Given the description of an element on the screen output the (x, y) to click on. 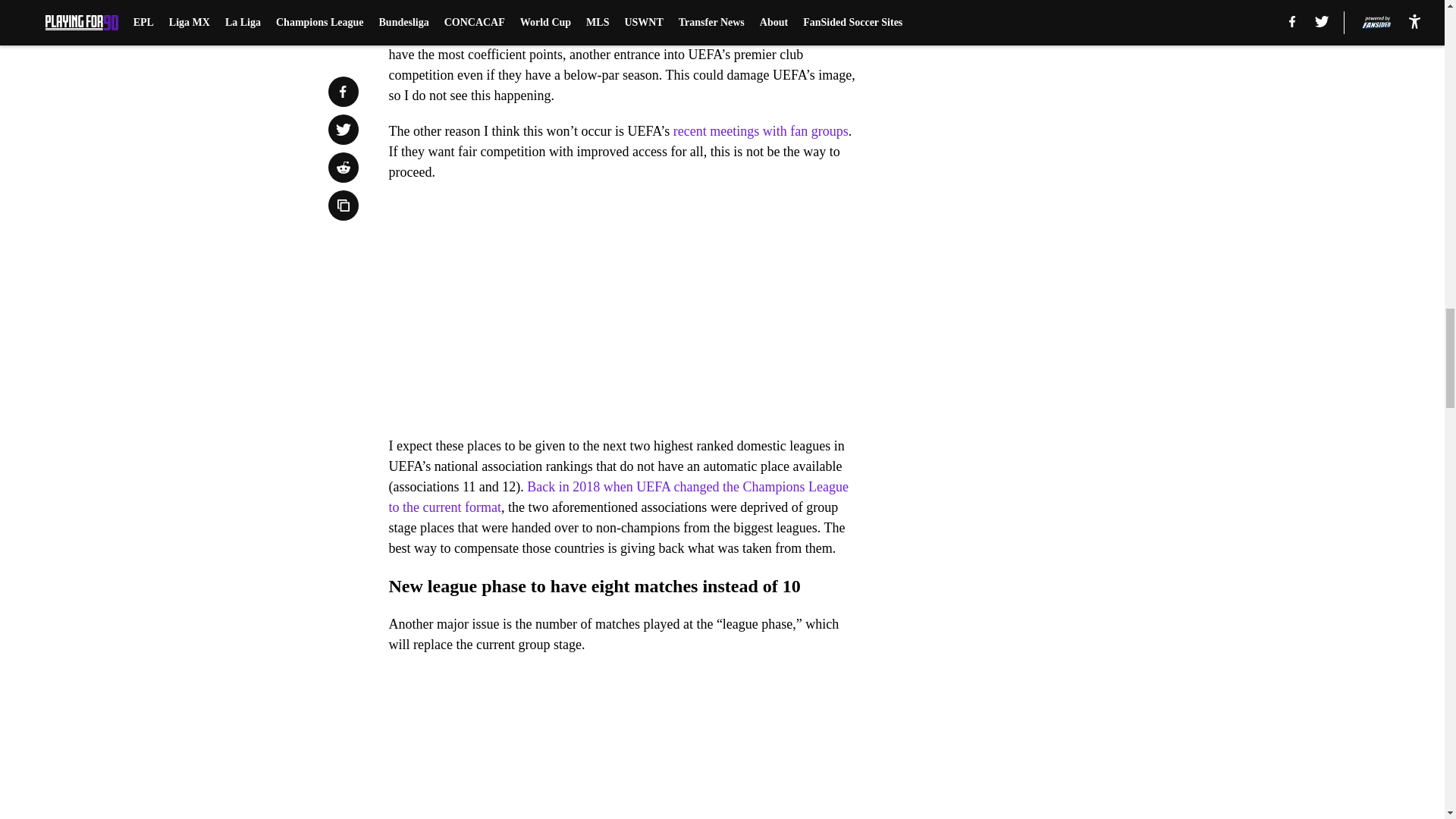
leagues (600, 0)
recent meetings with fan groups (760, 130)
fan groups (679, 0)
liken it to the failed European Super League of a year ago (619, 23)
